Given the description of an element on the screen output the (x, y) to click on. 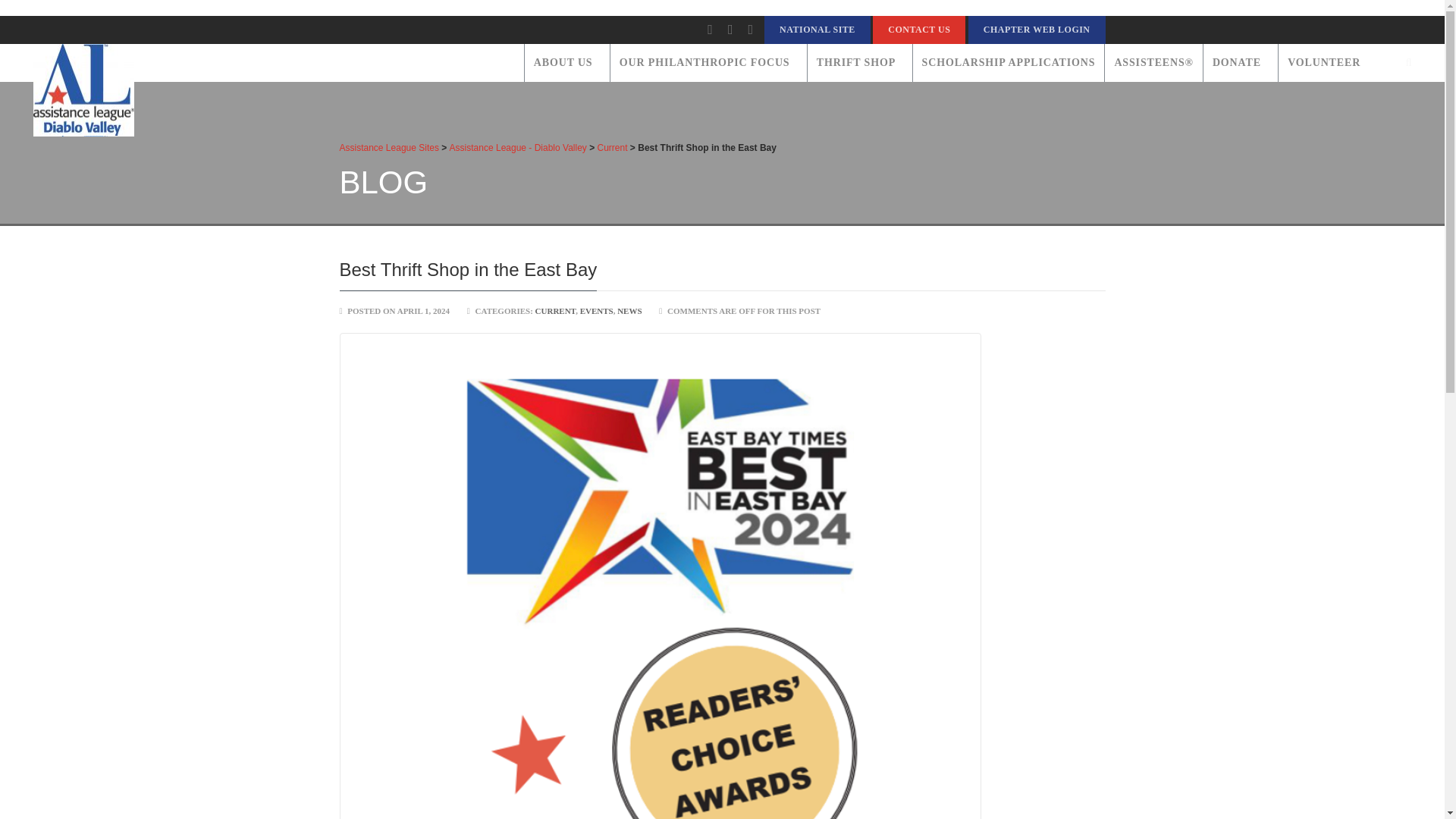
CHAPTER WEB LOGIN (1036, 29)
Go to Assistance League - Diablo Valley. (517, 147)
CONTACT US (918, 29)
VOLUNTEER (1327, 62)
SCHOLARSHIP APPLICATIONS (1008, 62)
Assistance League - Diablo Valley (83, 85)
Go to the Current Category archives. (611, 147)
OUR PHILANTHROPIC FOCUS (708, 62)
THRIFT SHOP (859, 62)
NATIONAL SITE (817, 29)
ABOUT US (567, 62)
DONATE (1240, 62)
Go to Assistance League Sites. (389, 147)
